Given the description of an element on the screen output the (x, y) to click on. 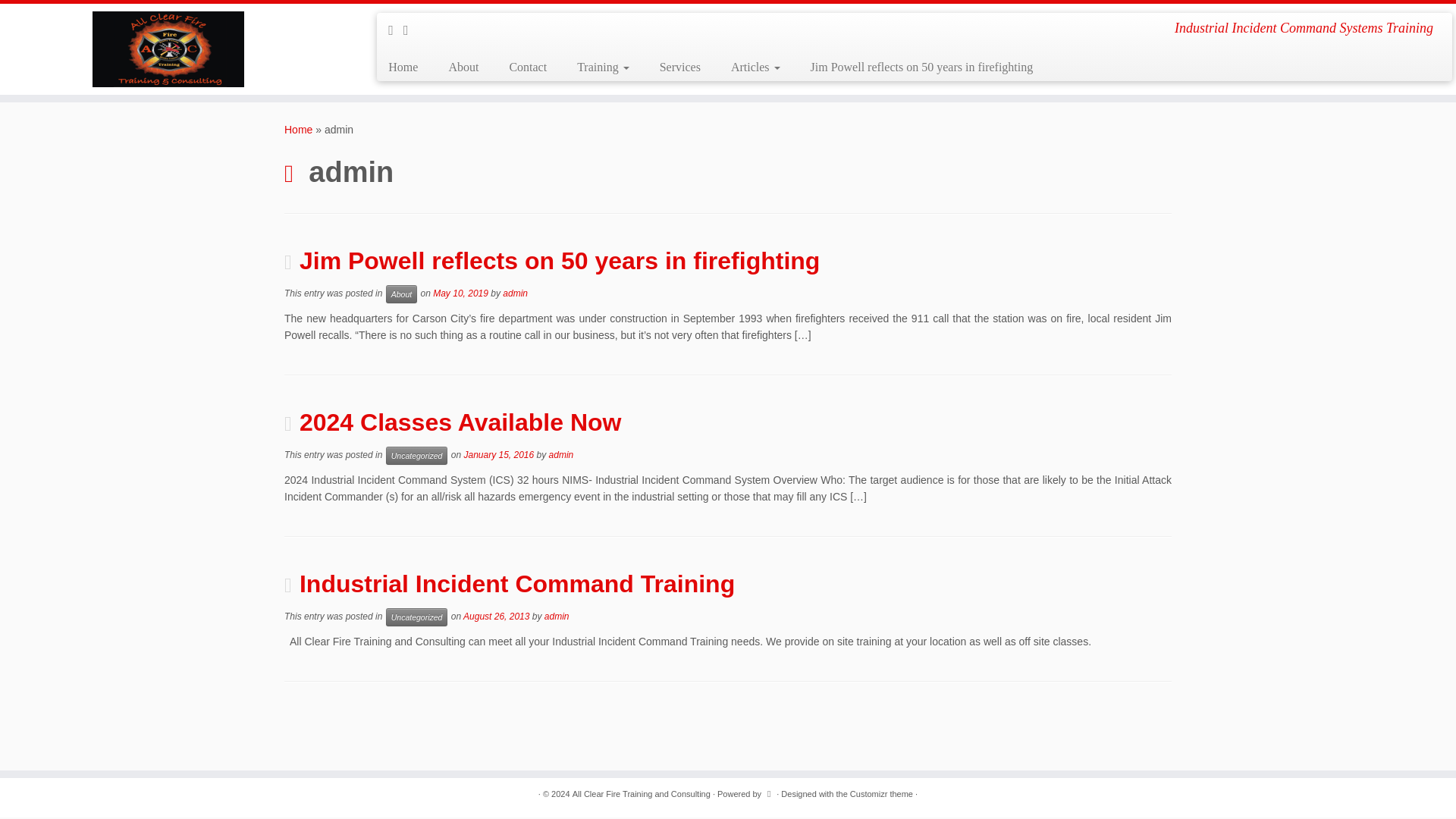
Uncategorized (416, 617)
View all posts by admin (560, 454)
View all posts in Uncategorized (416, 617)
3:33 pm (496, 615)
11:23 am (498, 454)
August 26, 2013 (496, 615)
Services (680, 67)
admin (560, 454)
9:25 am (459, 293)
admin (556, 615)
All Clear Fire Training and Consulting (298, 129)
View all posts by admin (556, 615)
Home (298, 129)
Industrial Incident Command Training (517, 583)
View all posts by admin (514, 293)
